Given the description of an element on the screen output the (x, y) to click on. 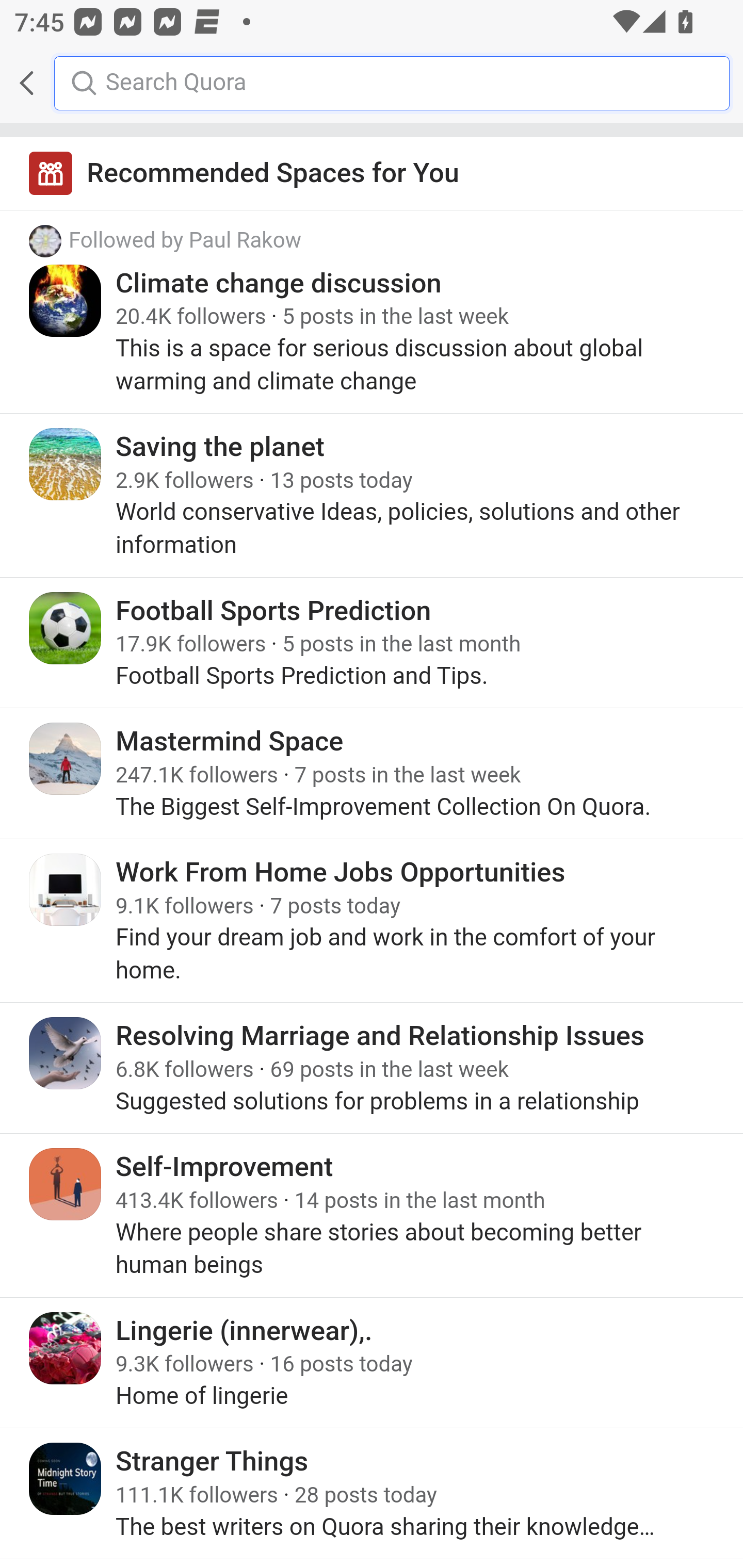
Me Home Search Add (371, 82)
Icon for Climate change discussion (65, 300)
Icon for Saving the planet (65, 464)
Icon for Football Sports Prediction (65, 627)
Icon for Mastermind Space (65, 759)
Icon for Work From Home Jobs Opportunities (65, 889)
Icon for Self-Improvement (65, 1184)
Icon for Lingerie (innerwear),. (65, 1347)
Icon for Stranger Things (65, 1479)
